Given the description of an element on the screen output the (x, y) to click on. 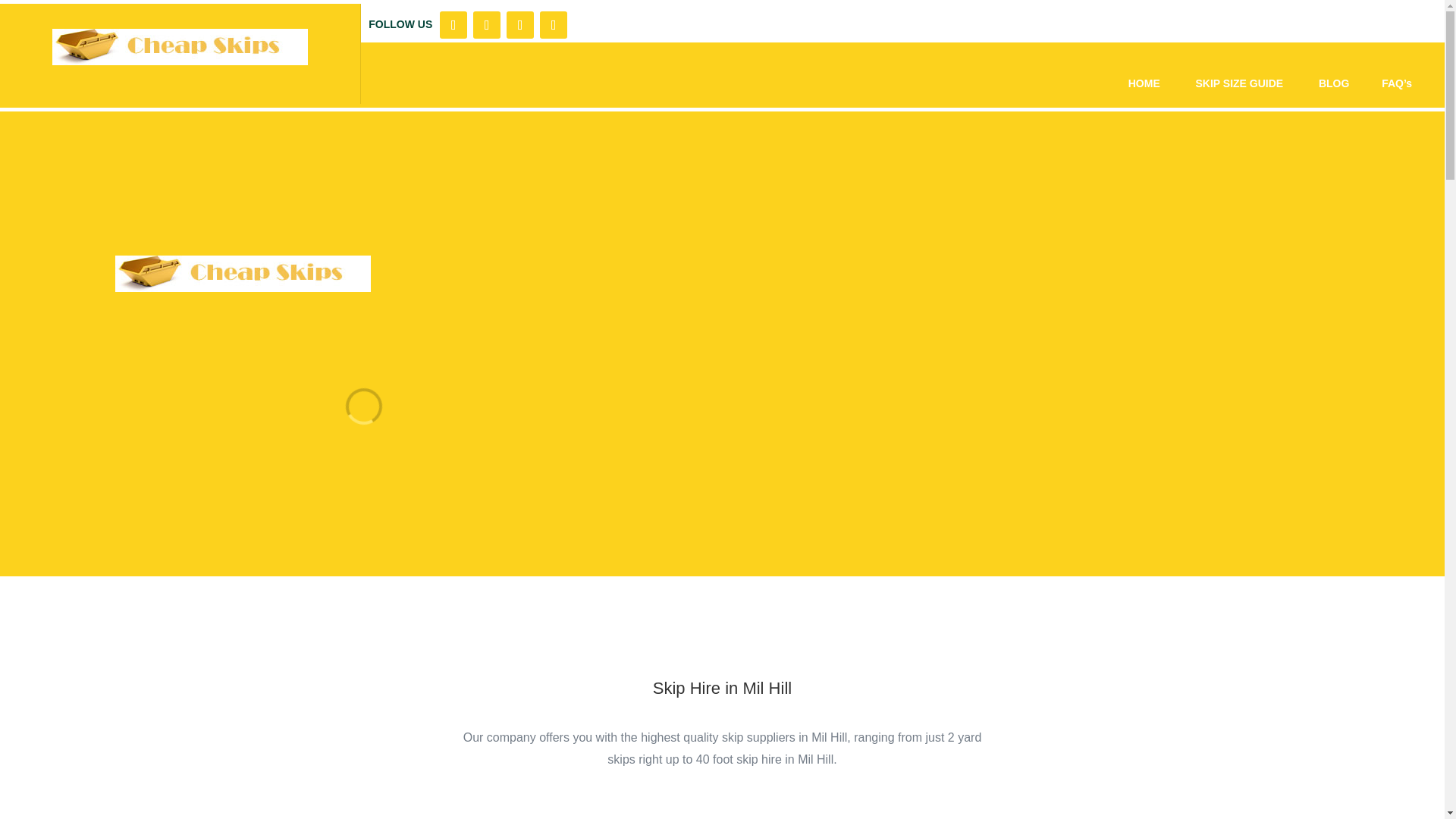
Follow on X (486, 24)
SKIP SIZE GUIDE (1240, 82)
Cheap Skips (179, 46)
BLOG (1334, 82)
Follow on Facebook (453, 24)
Cheap Skips (243, 273)
Follow on Instagram (520, 24)
Follow on Pinterest (553, 24)
HOME (1144, 82)
